Given the description of an element on the screen output the (x, y) to click on. 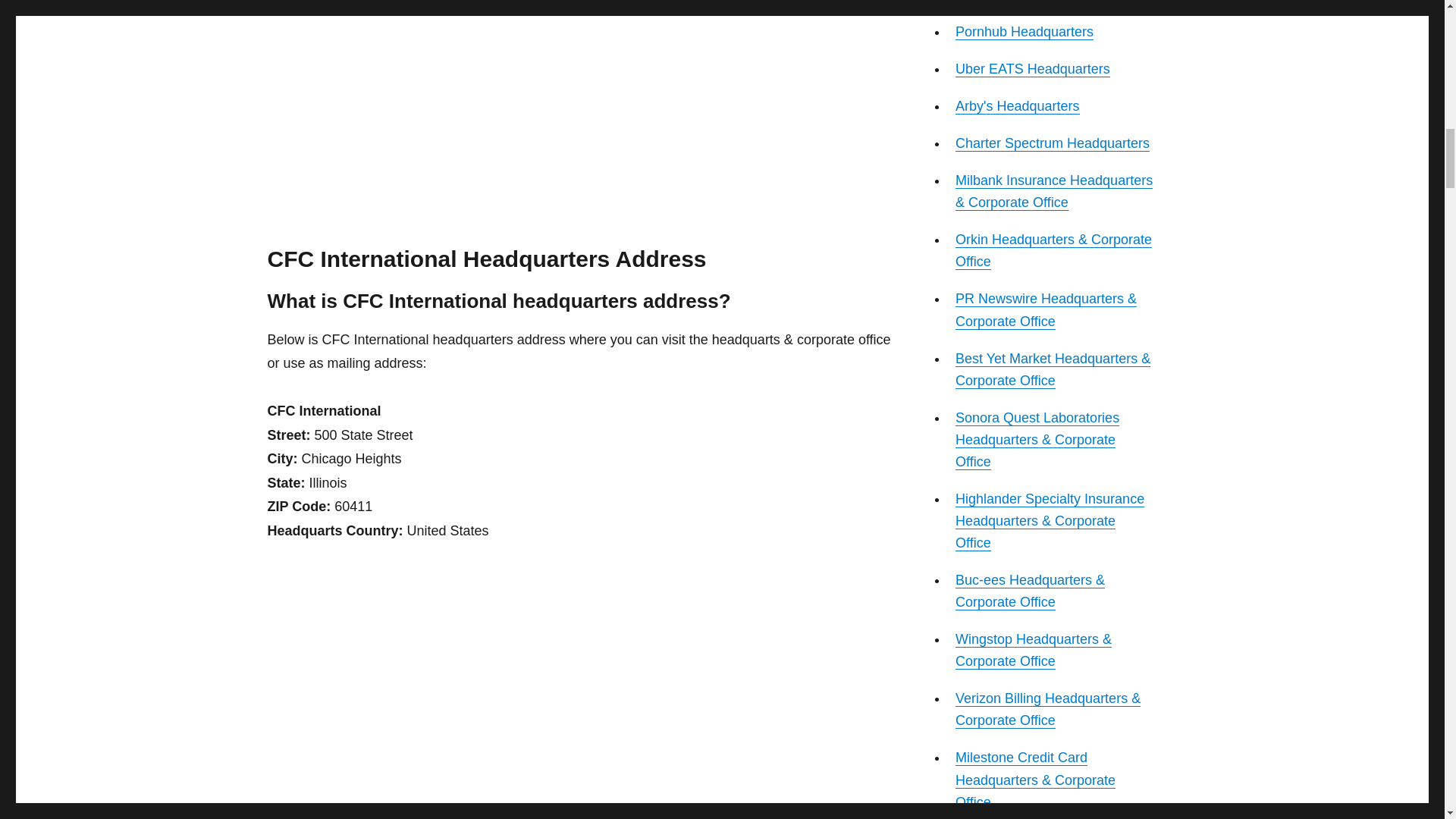
Charter Spectrum Headquarters (1052, 142)
Arby's Headquarters (1017, 105)
Pornhub Headquarters (1024, 31)
Uber EATS Headquarters (1032, 68)
Dominos Headquarters (1025, 1)
